Given the description of an element on the screen output the (x, y) to click on. 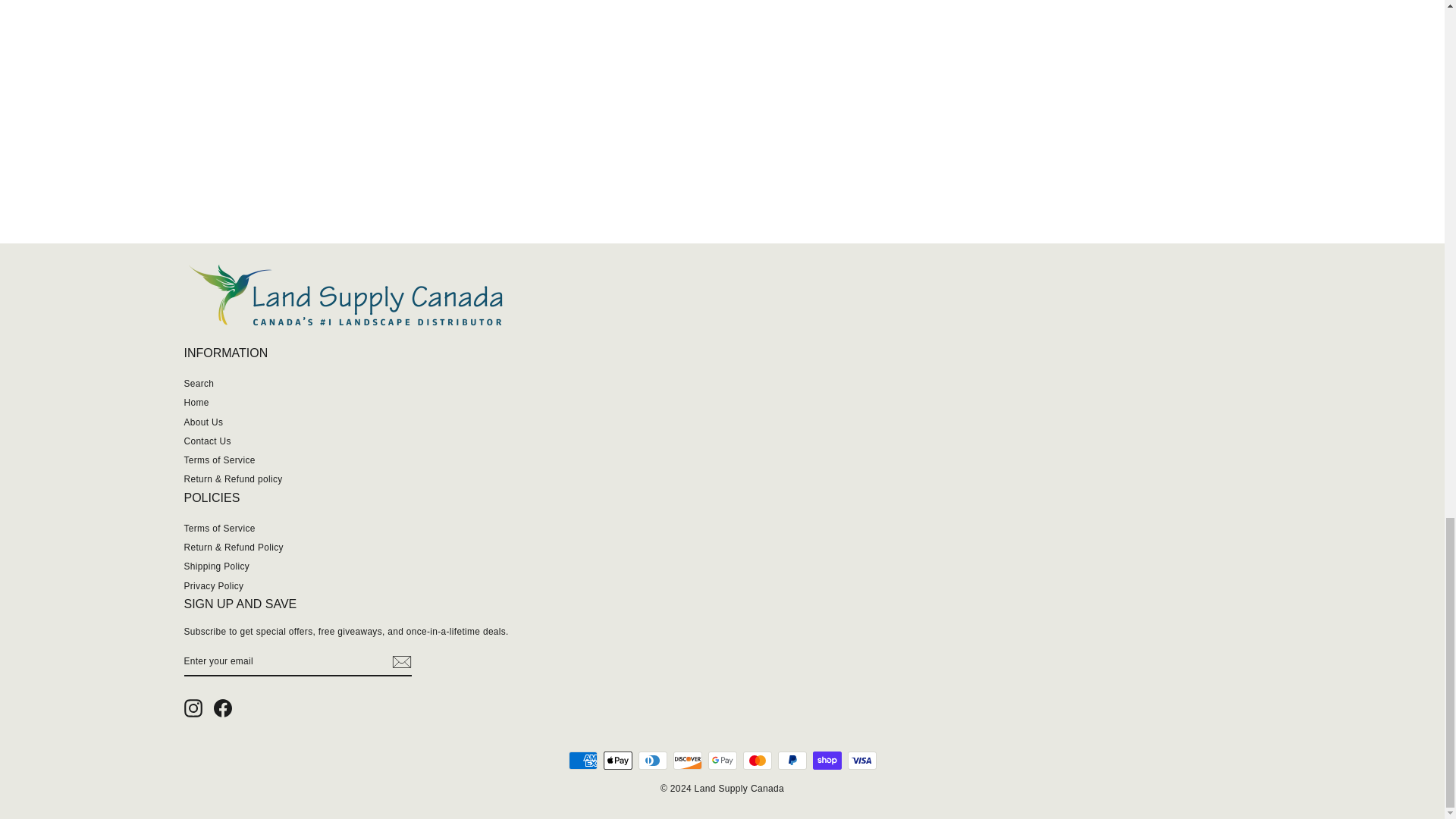
Google Pay (721, 760)
Discover (686, 760)
Apple Pay (617, 760)
American Express (582, 760)
Land Supply Canada on Instagram (192, 708)
Mastercard (756, 760)
Diners Club (652, 760)
Land Supply Canada on Facebook (222, 708)
